Given the description of an element on the screen output the (x, y) to click on. 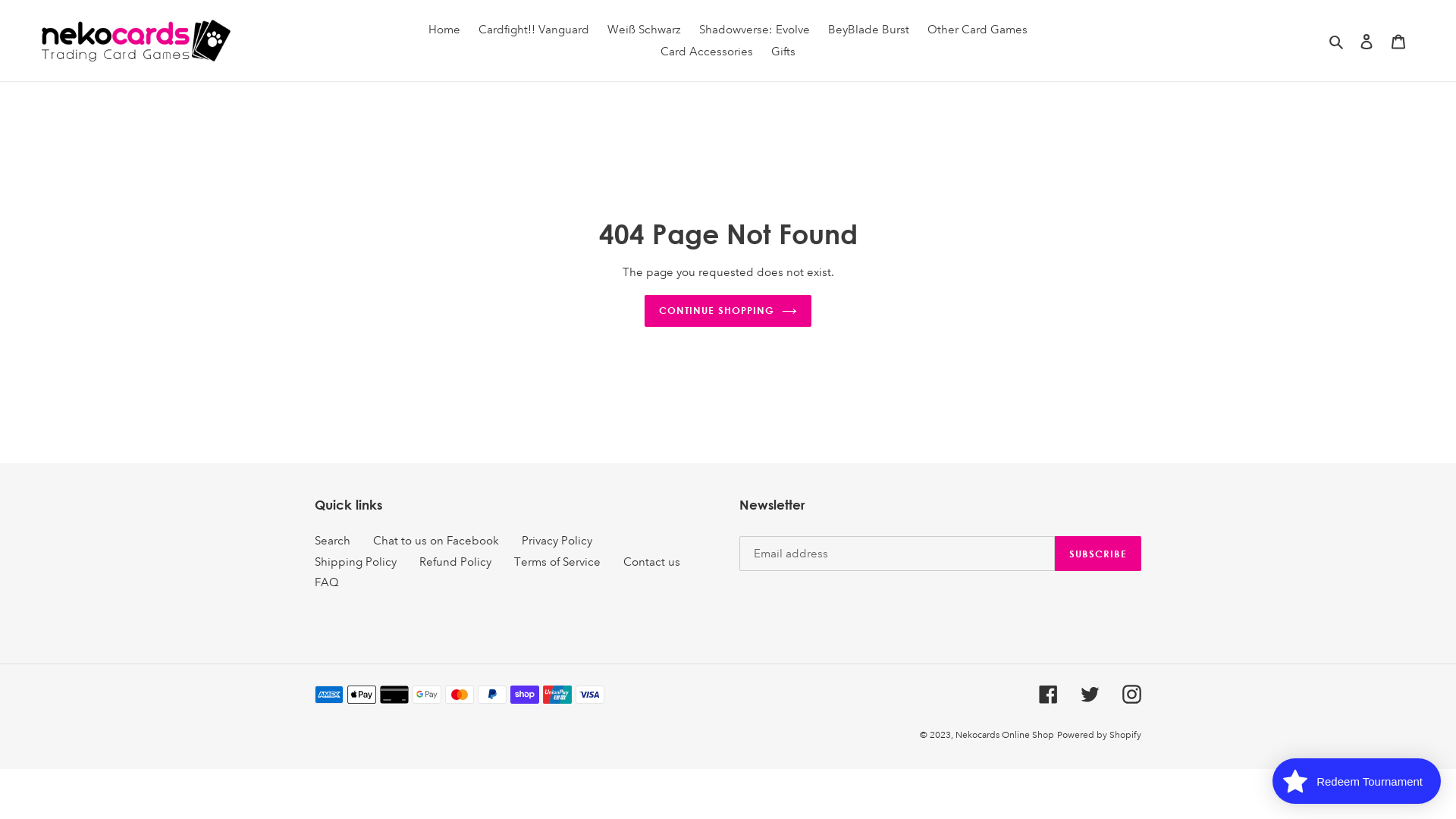
Shadowverse: Evolve Element type: text (754, 29)
Shipping Policy Element type: text (355, 561)
Nekocards Online Shop Element type: text (1004, 734)
Terms of Service Element type: text (557, 561)
Facebook Element type: text (1047, 693)
Chat to us on Facebook Element type: text (435, 540)
Search Element type: text (332, 540)
Search Element type: text (1337, 40)
Instagram Element type: text (1131, 693)
Cart Element type: text (1398, 40)
Twitter Element type: text (1089, 693)
Other Card Games Element type: text (977, 29)
Cardfight!! Vanguard Element type: text (533, 29)
Powered by Shopify Element type: text (1099, 734)
Log in Element type: text (1366, 40)
SUBSCRIBE Element type: text (1097, 553)
Contact us Element type: text (651, 561)
Privacy Policy Element type: text (556, 540)
BeyBlade Burst Element type: text (868, 29)
CONTINUE SHOPPING Element type: text (728, 310)
Card Accessories Element type: text (706, 51)
Refund Policy Element type: text (455, 561)
Gifts Element type: text (783, 51)
FAQ Element type: text (326, 582)
Home Element type: text (443, 29)
